Given the description of an element on the screen output the (x, y) to click on. 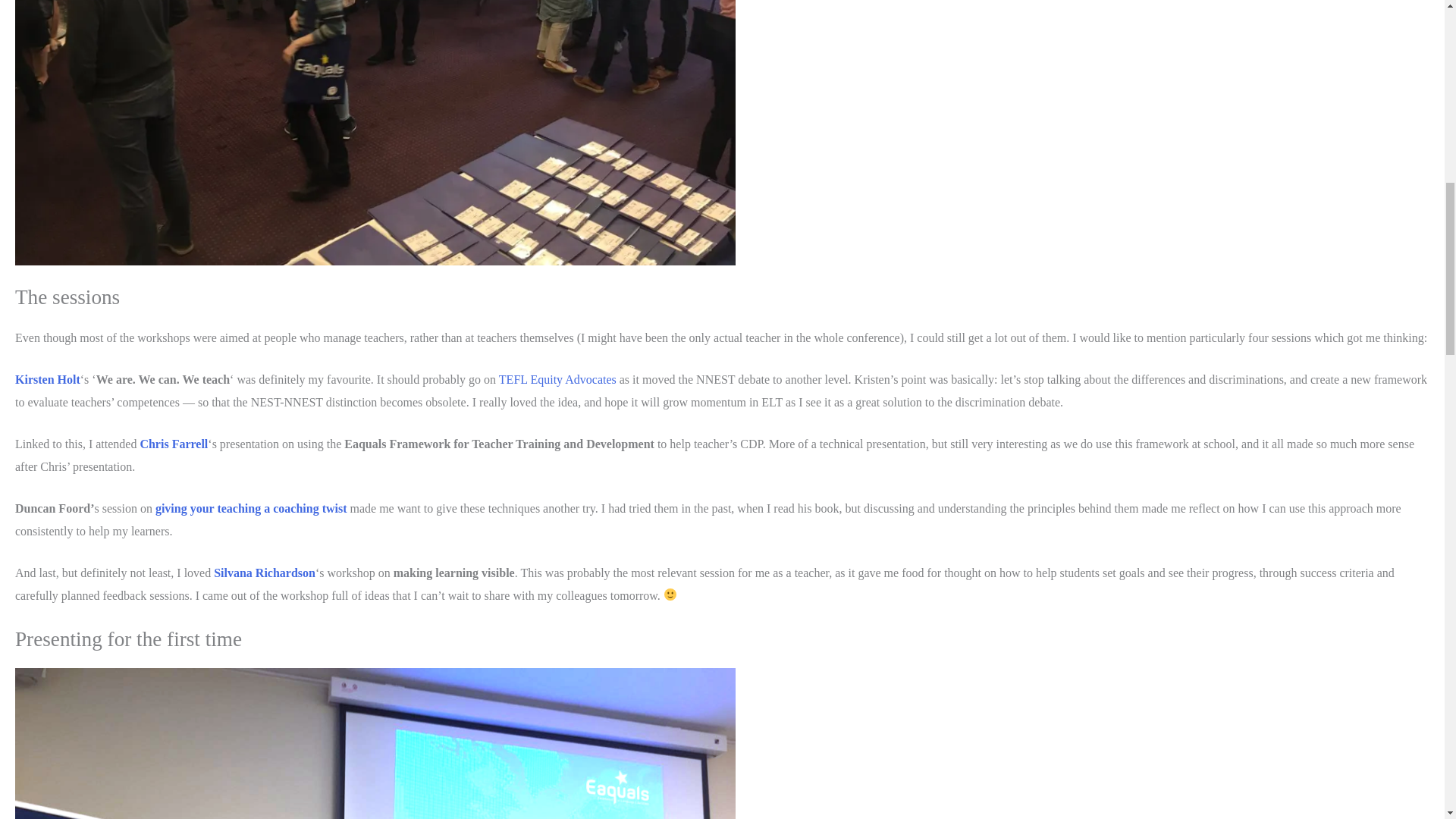
giving your teaching a coaching twist (251, 508)
TEFL Equity Advocates (557, 379)
Chris Farrell (173, 443)
Silvana Richardson (264, 572)
Kirsten Holt (47, 379)
